Given the description of an element on the screen output the (x, y) to click on. 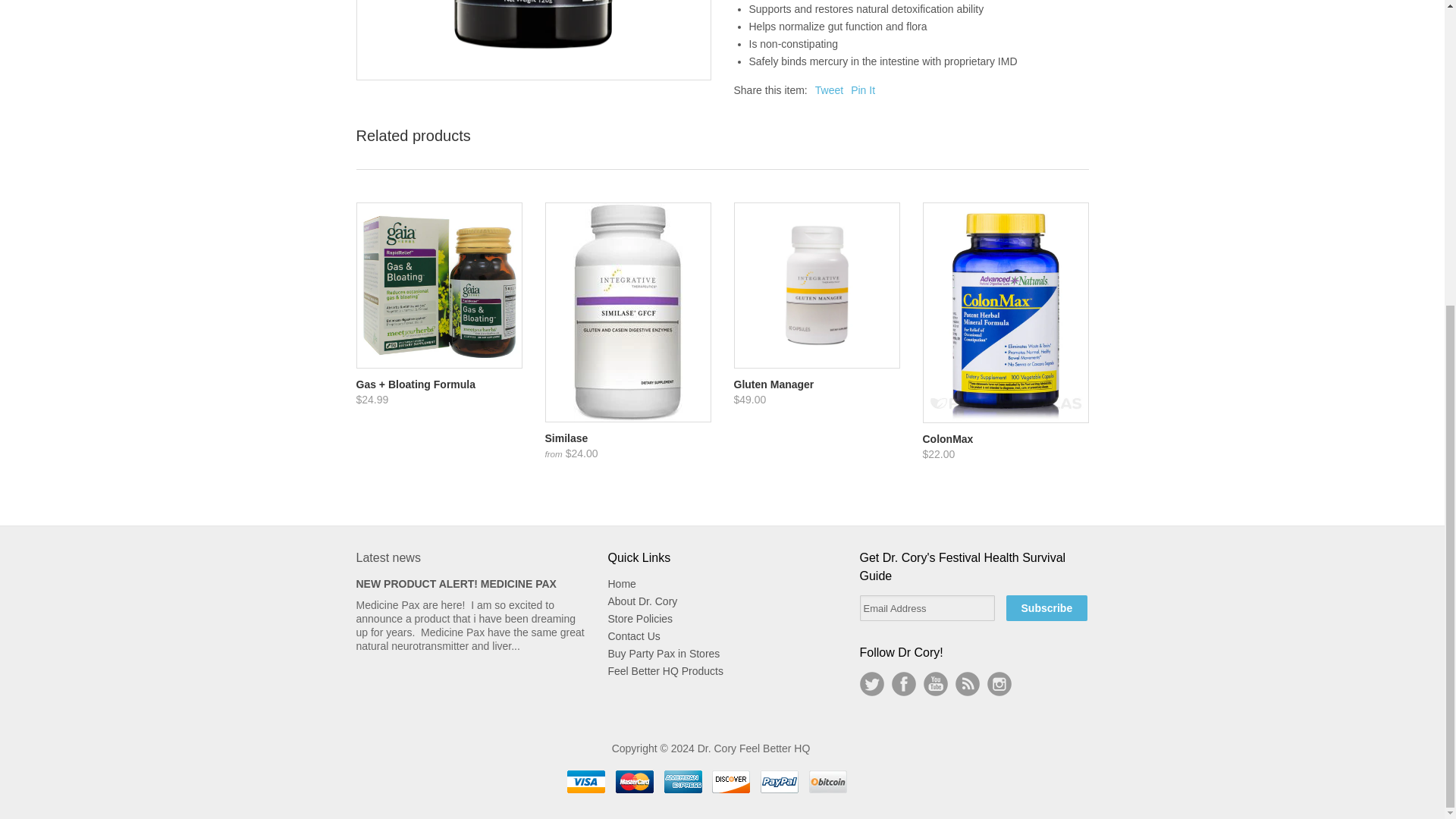
Buy Party Pax in Stores (664, 653)
Feel Better HQ Products (665, 671)
Contact Us (634, 635)
Home (622, 583)
Store Policies (640, 618)
Tweet (829, 90)
Contact Us (634, 635)
Dr. Cory Feel Better HQ news (967, 683)
Feel Better HQ Products (665, 671)
Instagram (999, 683)
Home (622, 583)
Store Policies (640, 618)
Buy Party Pax in Stores (664, 653)
About Dr. Cory (643, 601)
About Dr. Cory (643, 601)
